Given the description of an element on the screen output the (x, y) to click on. 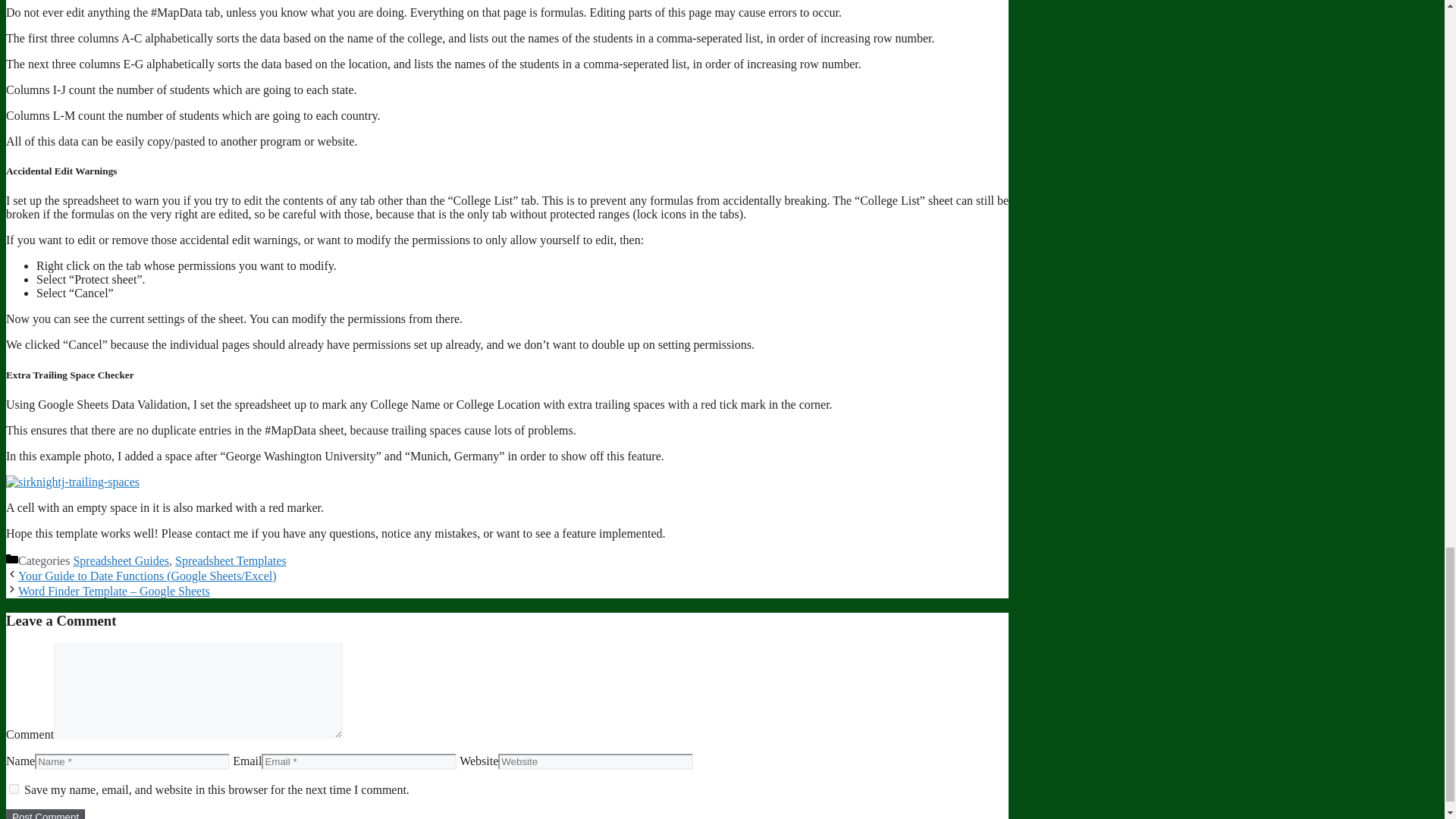
Spreadsheet Guides (120, 560)
yes (13, 788)
Spreadsheet Templates (230, 560)
